Given the description of an element on the screen output the (x, y) to click on. 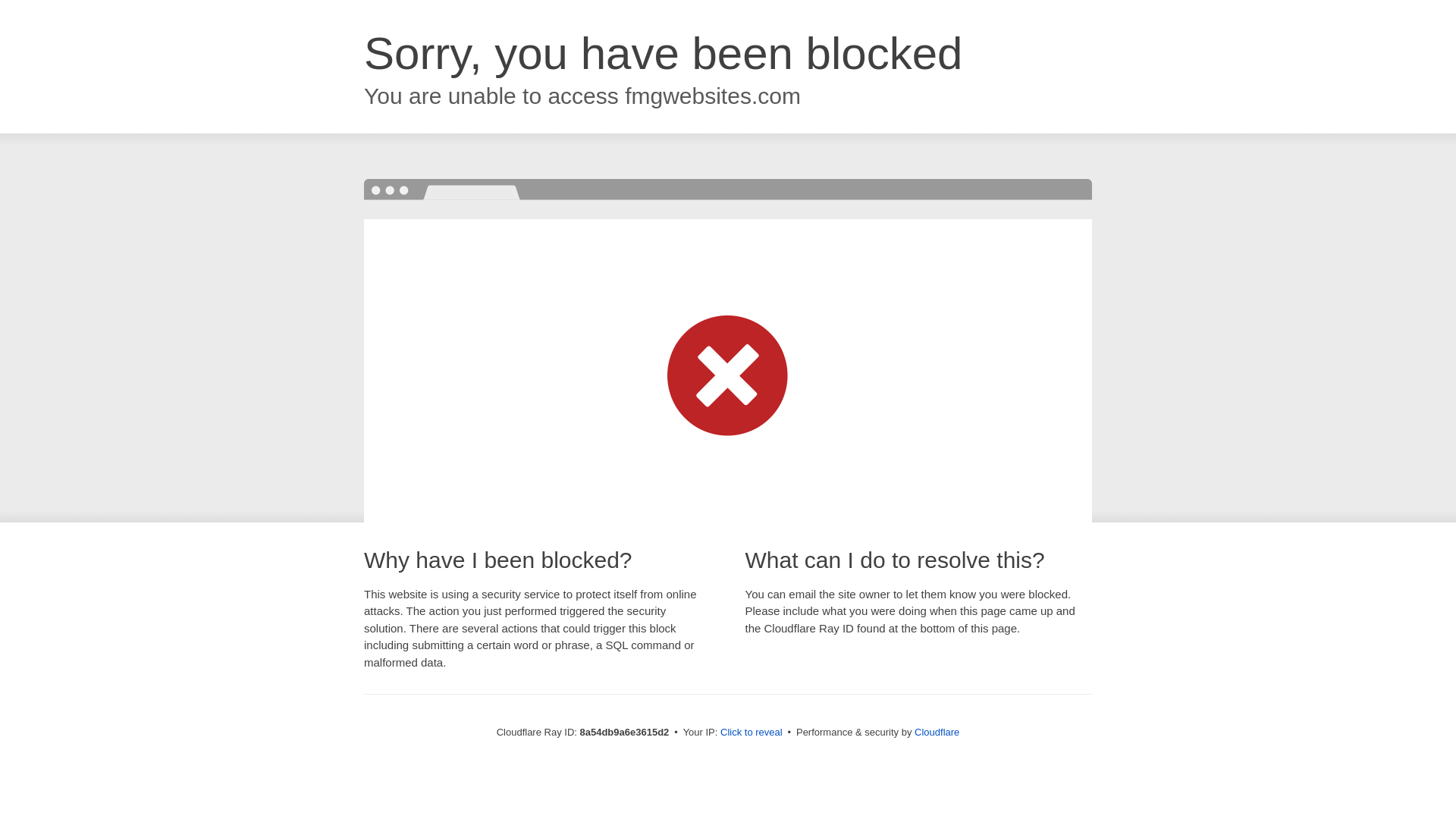
Cloudflare (936, 731)
Click to reveal (751, 732)
